Given the description of an element on the screen output the (x, y) to click on. 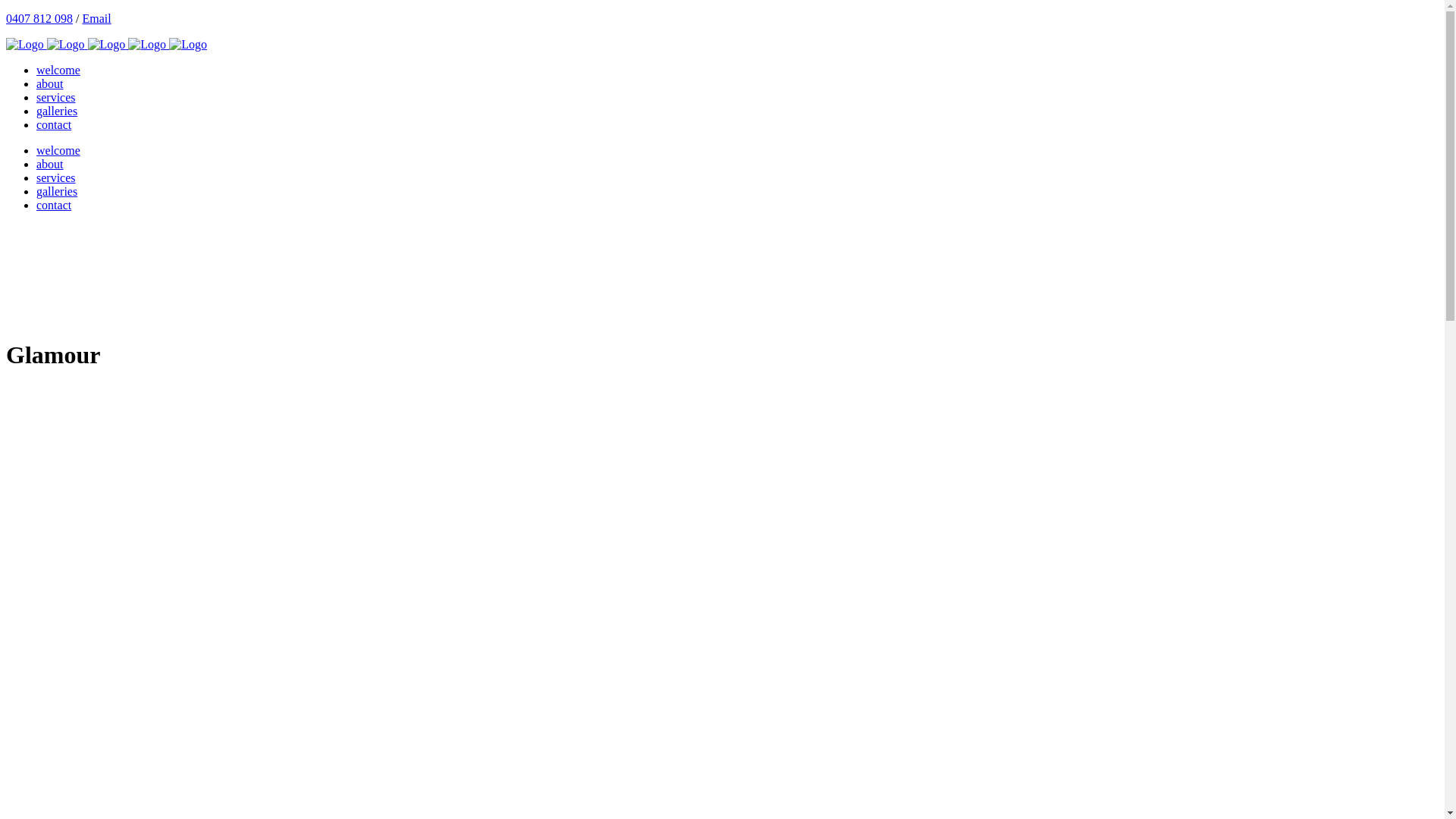
Email Element type: text (95, 18)
0407 812 098 Element type: text (39, 18)
services Element type: text (55, 177)
about Element type: text (49, 163)
services Element type: text (55, 97)
about Element type: text (49, 83)
contact Element type: text (53, 204)
galleries Element type: text (56, 110)
welcome Element type: text (58, 69)
contact Element type: text (53, 124)
welcome Element type: text (58, 150)
galleries Element type: text (56, 191)
